Given the description of an element on the screen output the (x, y) to click on. 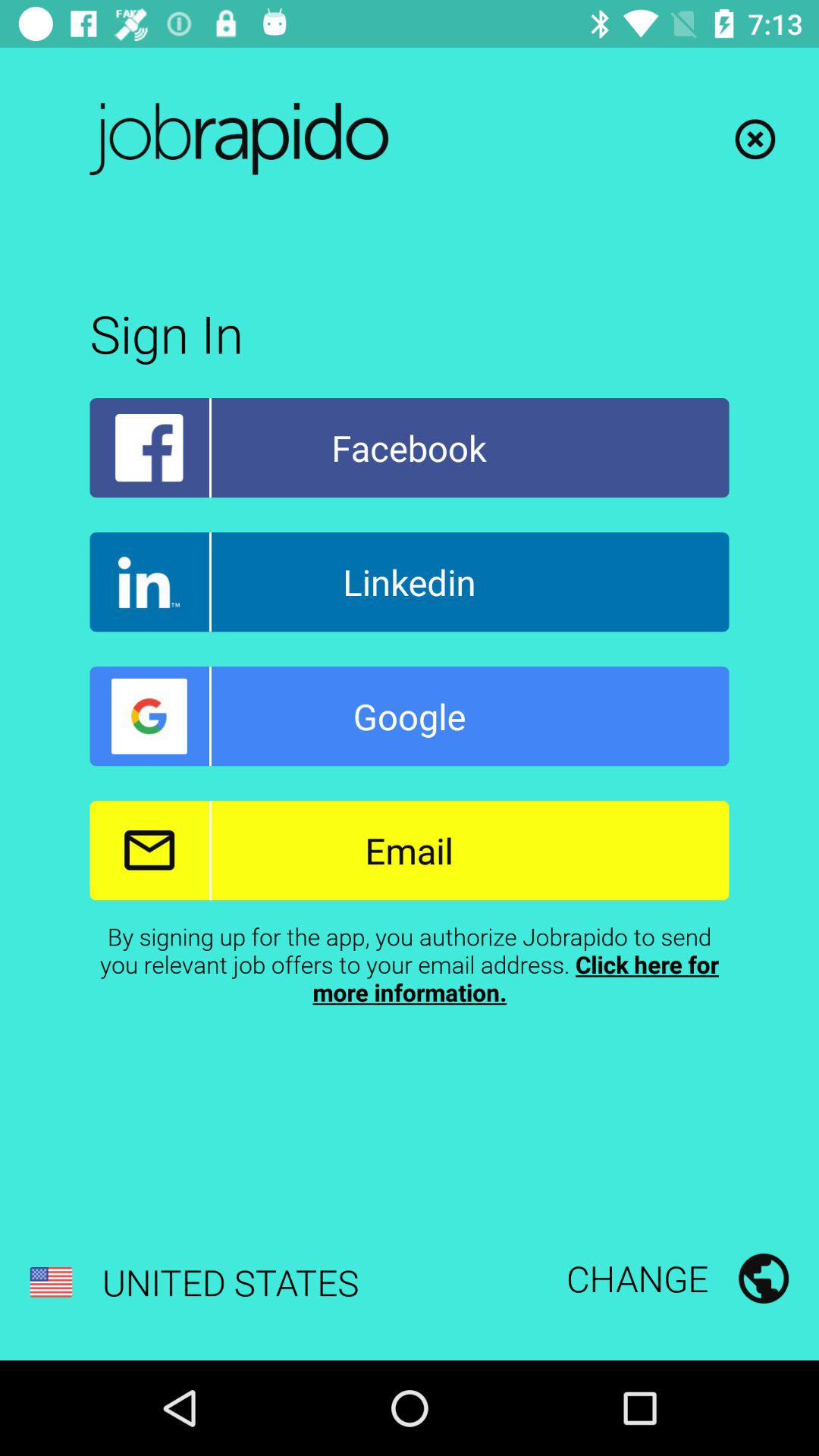
click the united states (194, 1282)
